Given the description of an element on the screen output the (x, y) to click on. 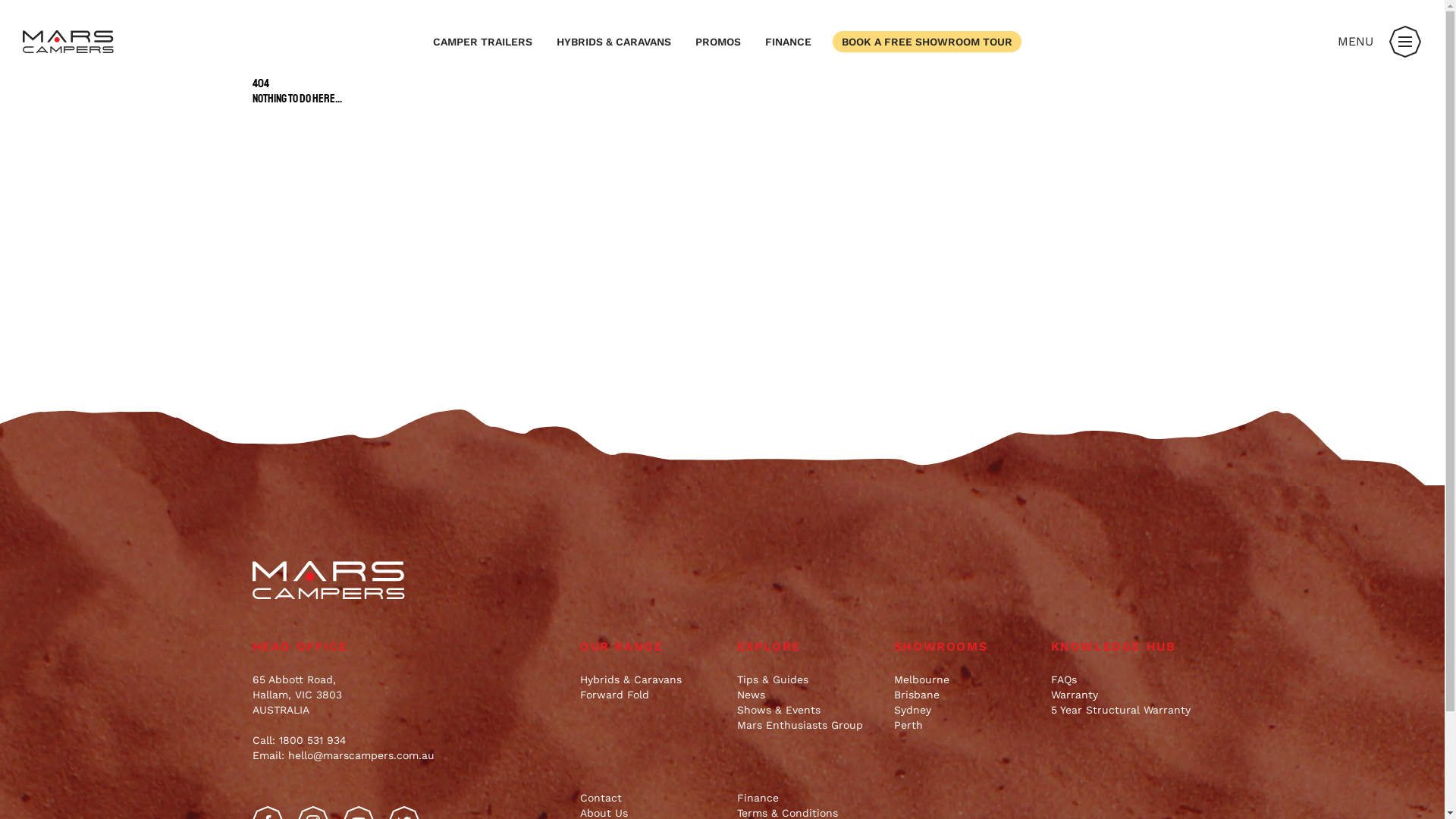
FINANCE Element type: text (788, 41)
Call: 1800 531 934 Element type: text (298, 740)
Email: hello@marscampers.com.au Element type: text (342, 755)
Mars Enthusiasts Group Element type: text (807, 724)
Brisbane Element type: text (964, 694)
FAQs Element type: text (1121, 679)
Forward Fold Element type: text (650, 694)
Melbourne Element type: text (964, 679)
Hybrids & Caravans Element type: text (650, 679)
5 Year Structural Warranty Element type: text (1121, 709)
EXPLORE Element type: text (807, 646)
Shows & Events Element type: text (807, 709)
HYBRIDS & CARAVANS Element type: text (613, 41)
Sydney Element type: text (964, 709)
Warranty Element type: text (1121, 694)
SHOWROOMS Element type: text (964, 646)
Perth Element type: text (964, 724)
CAMPER TRAILERS Element type: text (482, 41)
News Element type: text (807, 694)
Finance Element type: text (807, 797)
BOOK A FREE SHOWROOM TOUR Element type: text (926, 41)
Tips & Guides Element type: text (807, 679)
OUR RANGE Element type: text (650, 646)
Contact Element type: text (650, 797)
PROMOS Element type: text (717, 41)
KNOWLEDGE HUB Element type: text (1121, 646)
